Given the description of an element on the screen output the (x, y) to click on. 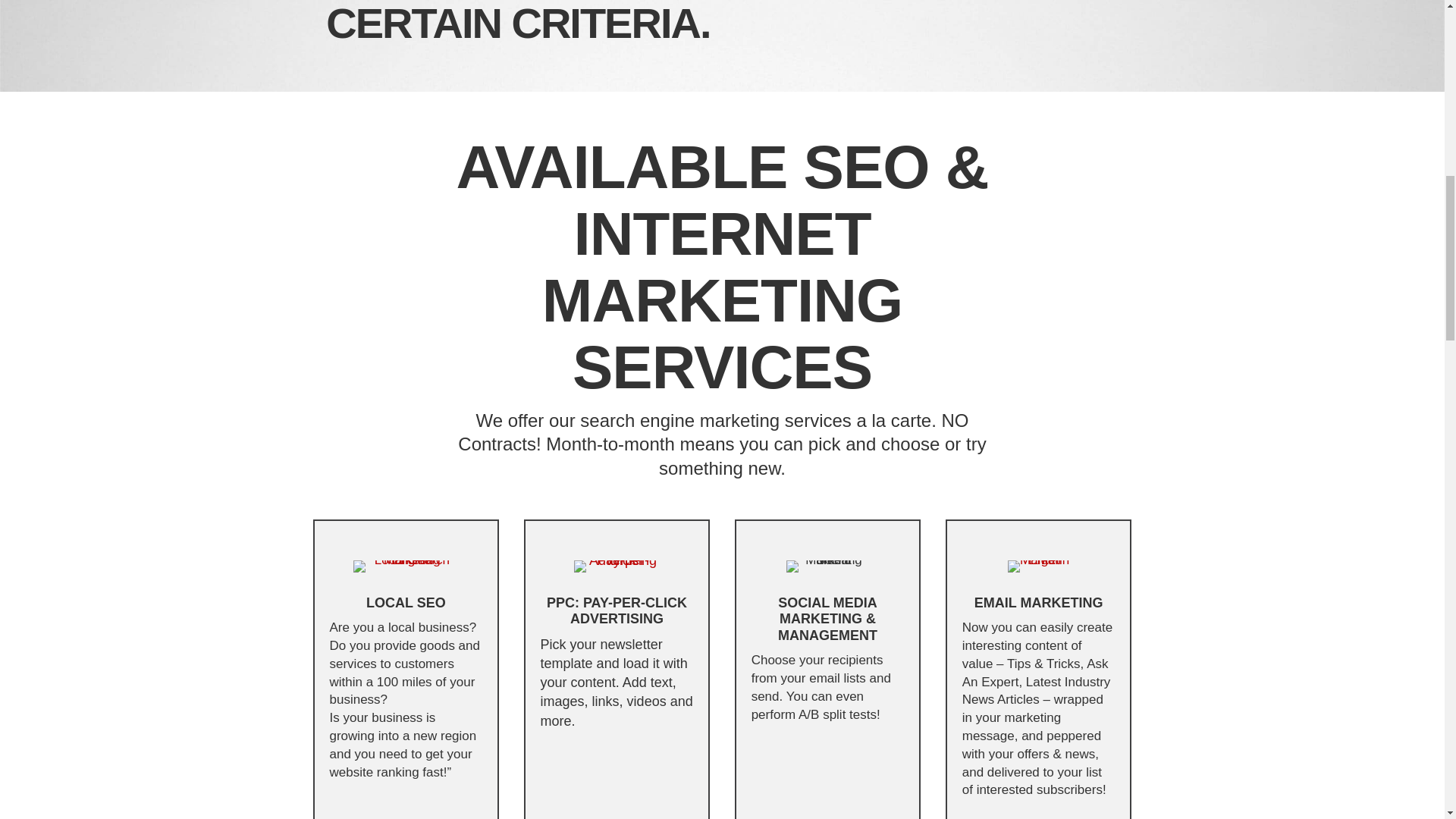
PPC: PAY-PER-CLICK ADVERTISING (617, 611)
EMAIL MARKETING (1038, 602)
LOCAL SEO (405, 602)
